Given the description of an element on the screen output the (x, y) to click on. 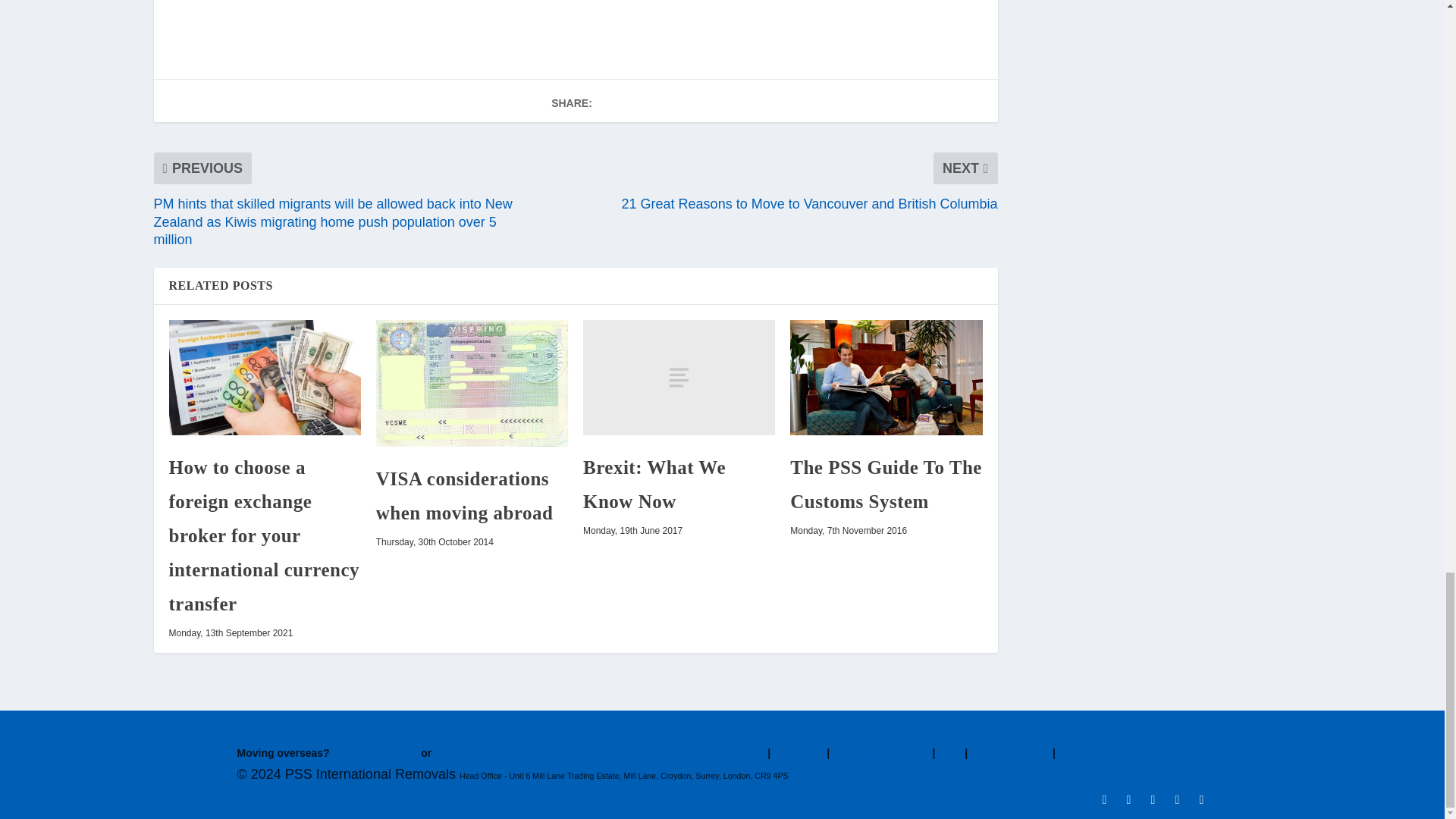
Brexit: What We Know Now (678, 377)
The PSS Guide To The Customs System (885, 377)
VISA considerations when moving abroad (471, 383)
